Given the description of an element on the screen output the (x, y) to click on. 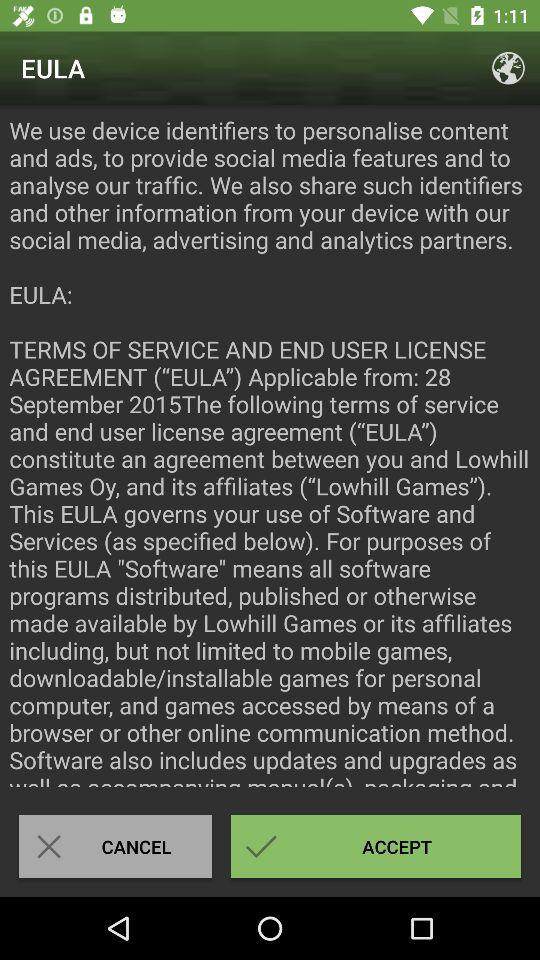
scroll until accept icon (375, 846)
